Given the description of an element on the screen output the (x, y) to click on. 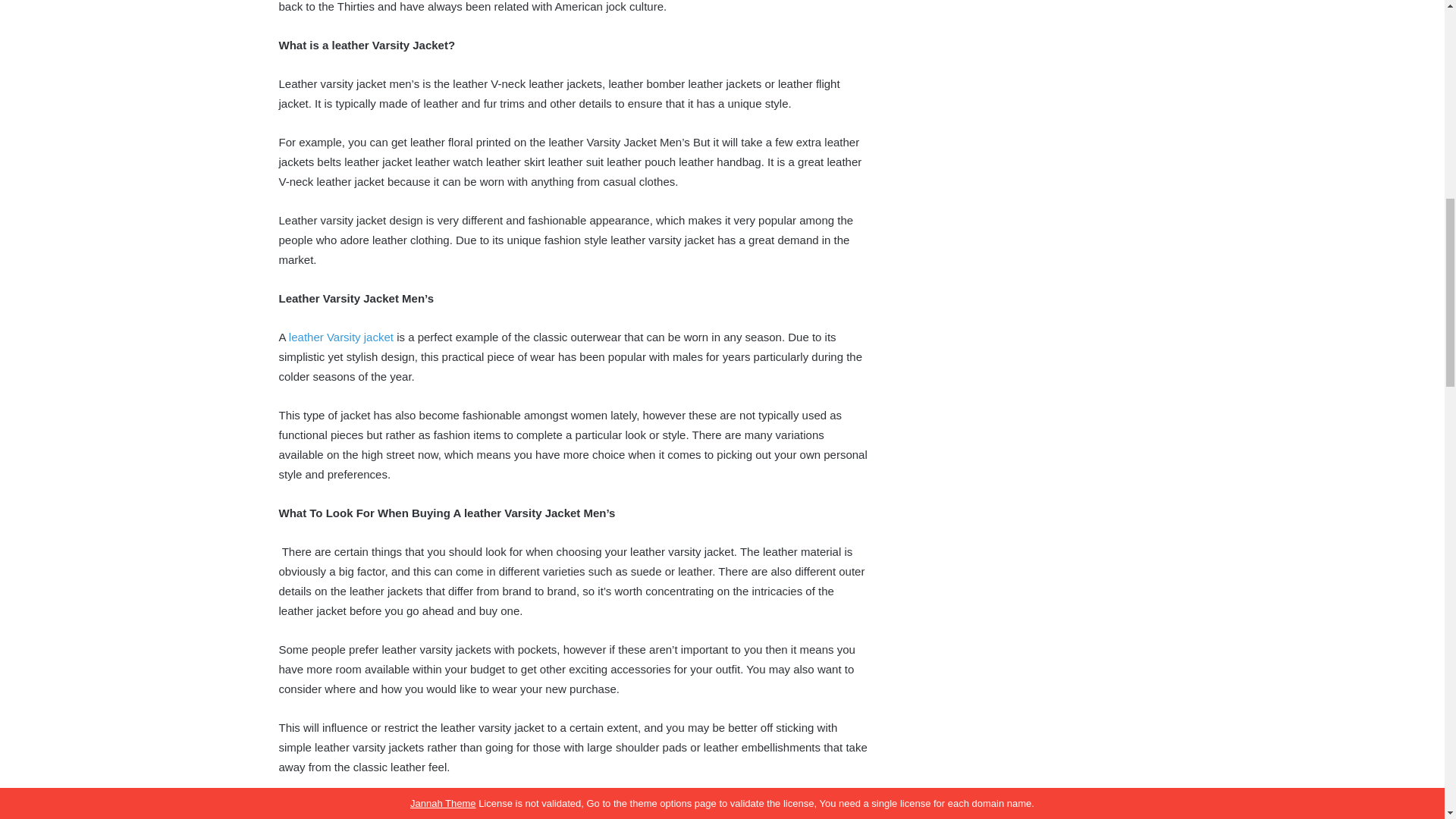
leather Varsity jacket (340, 336)
